Given the description of an element on the screen output the (x, y) to click on. 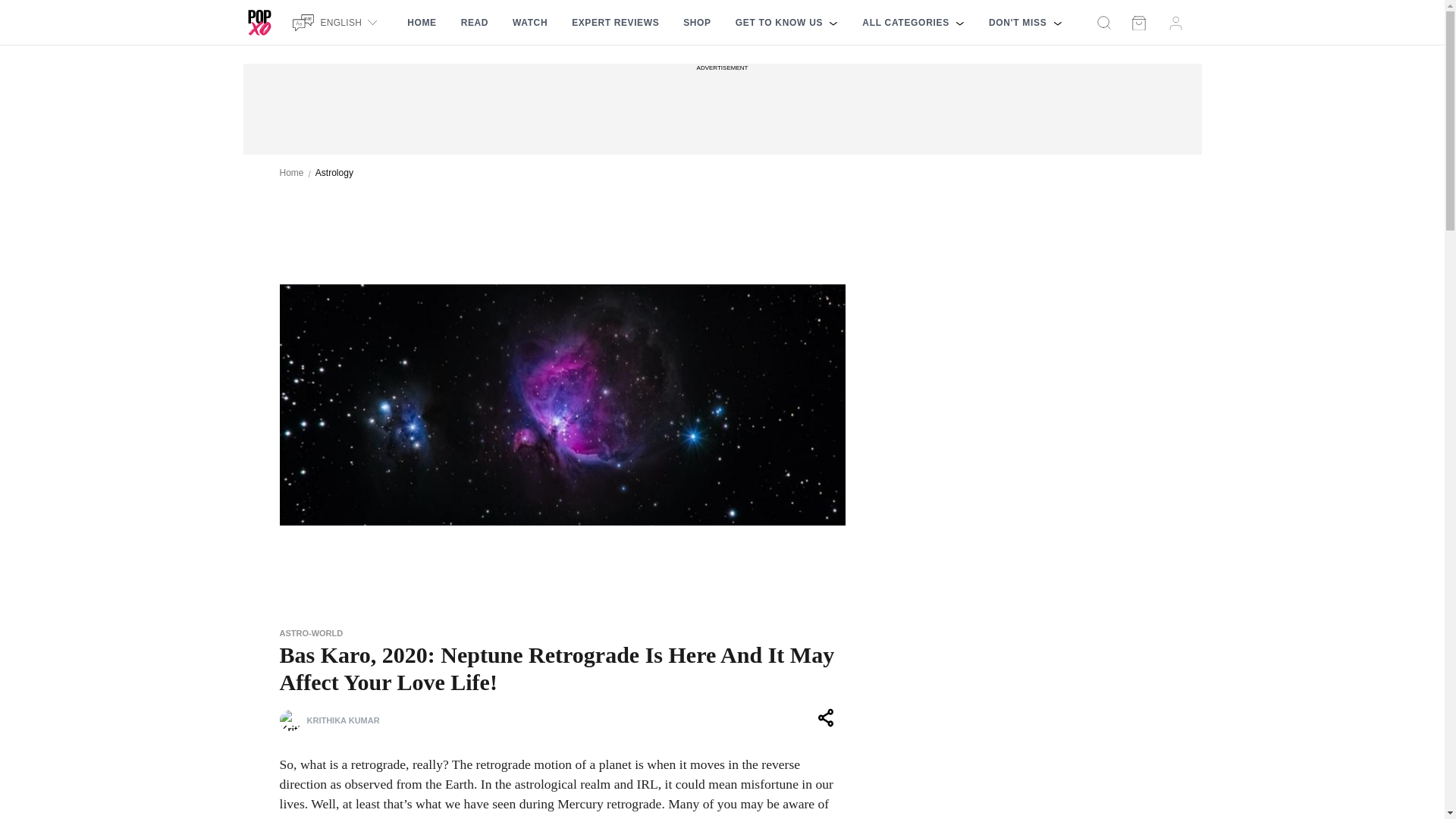
WATCH (529, 22)
HOME (421, 22)
Home (290, 173)
Astrology (334, 173)
READ (474, 22)
EXPERT REVIEWS (615, 22)
ENGLISH (337, 22)
Krithika Kumar (289, 720)
SHOP (696, 22)
